Given the description of an element on the screen output the (x, y) to click on. 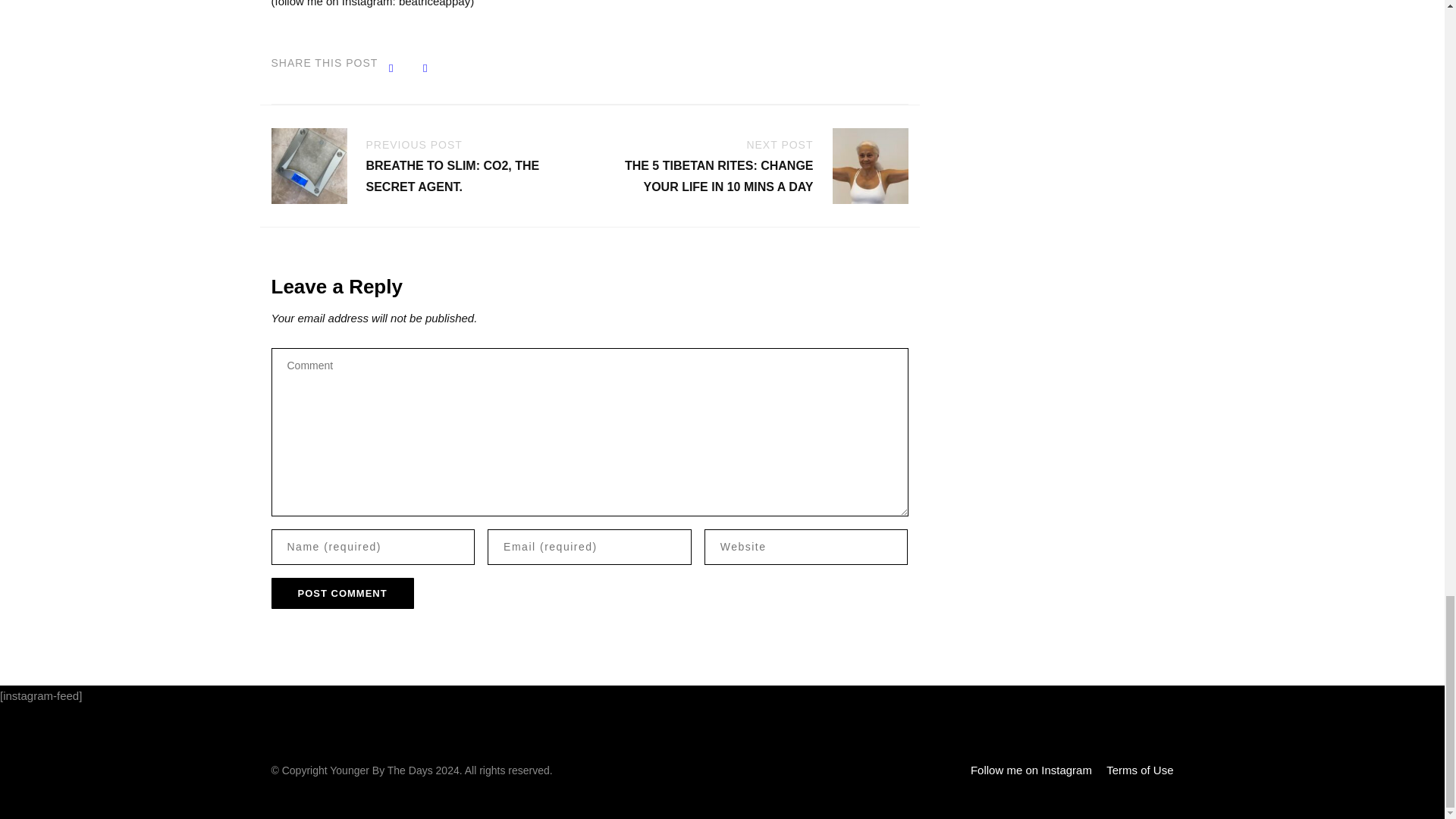
Post Comment (341, 593)
Post Comment (341, 593)
